Given the description of an element on the screen output the (x, y) to click on. 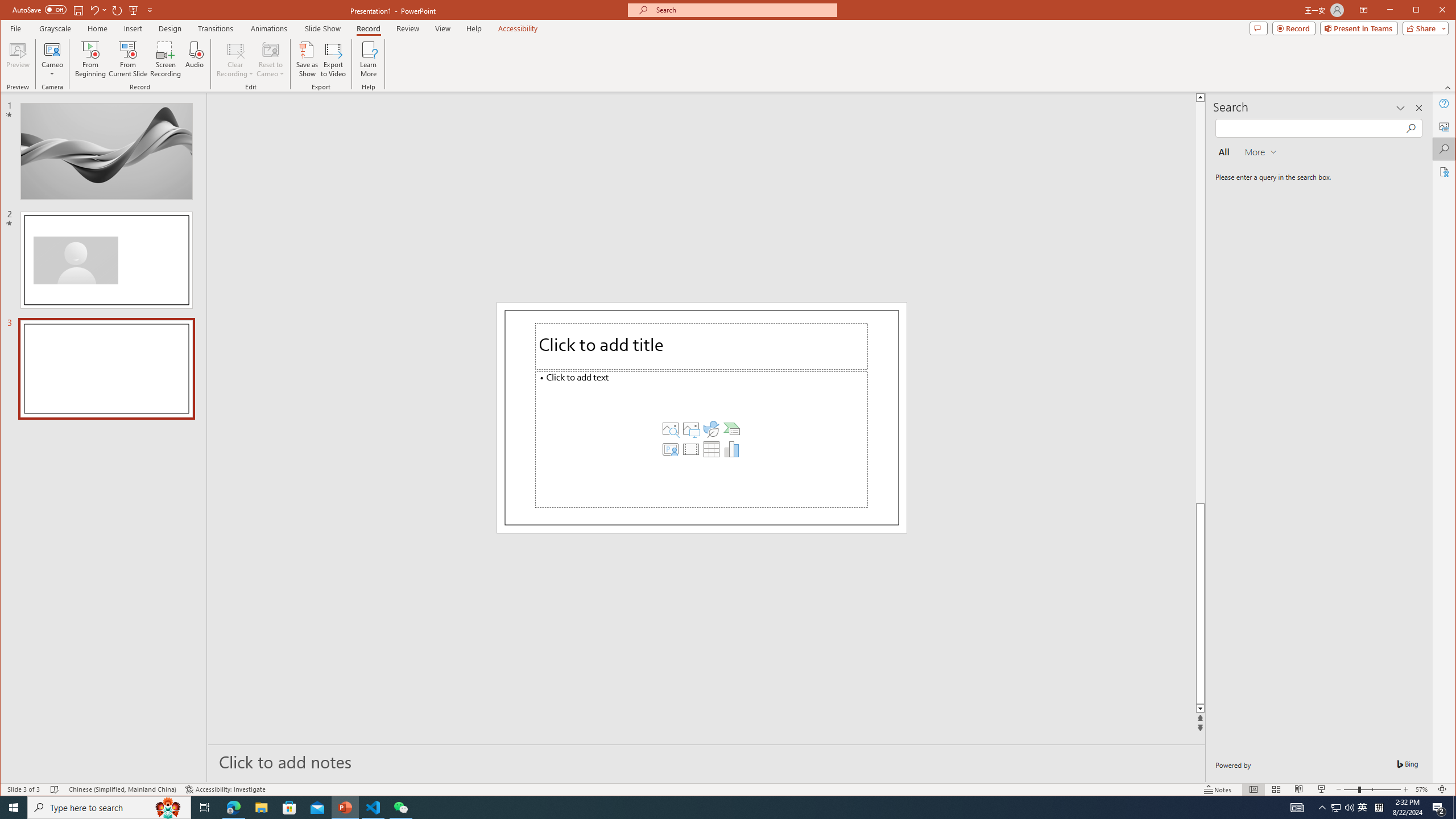
Zoom 57% (1422, 789)
